Given the description of an element on the screen output the (x, y) to click on. 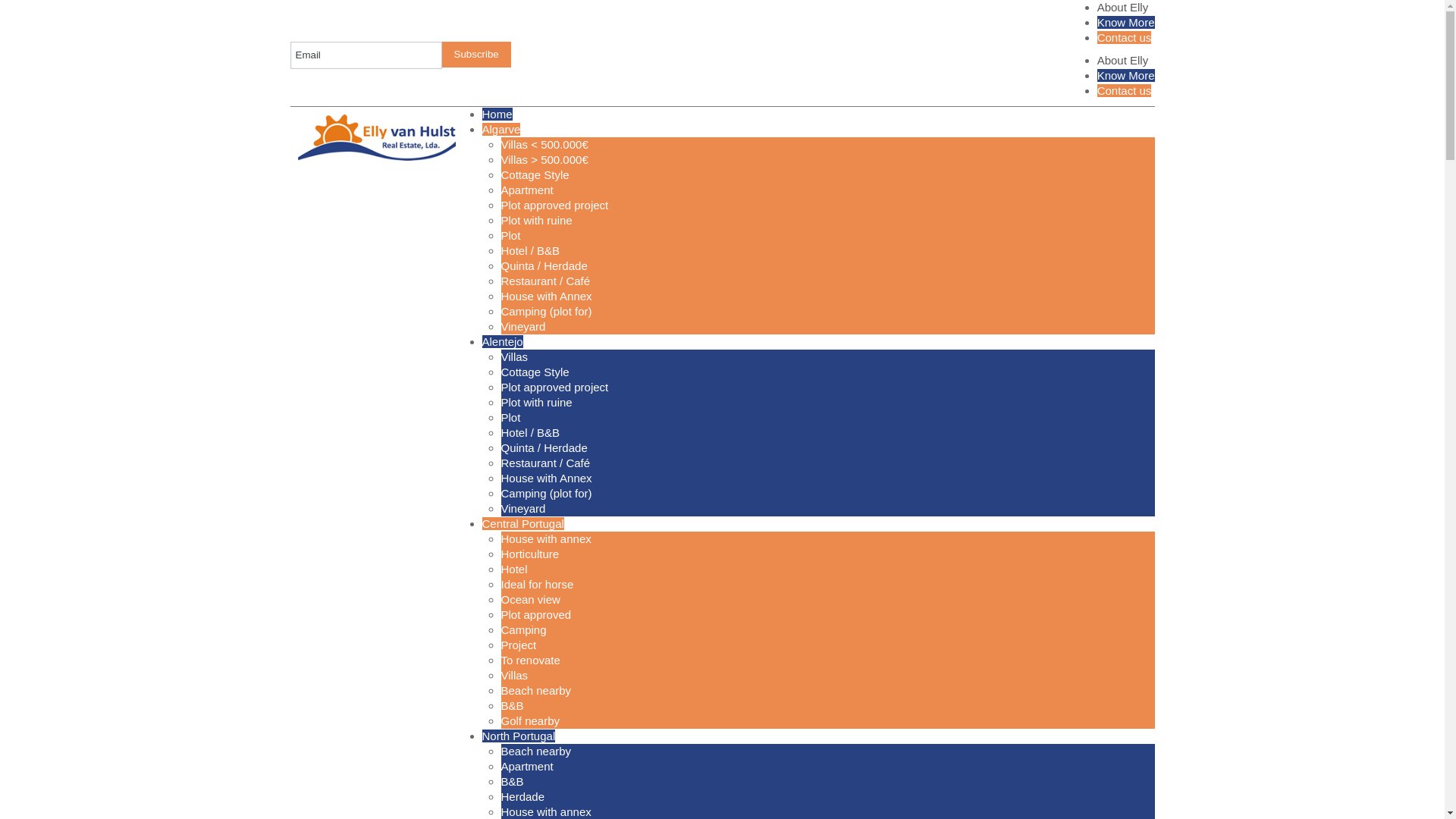
Alentejo (501, 341)
Central Portugal (522, 522)
About Elly (1122, 60)
Plot with ruine (536, 219)
Algarve (501, 128)
Subscribe (476, 53)
Know More (1125, 21)
Vineyard (522, 326)
Subscribe (476, 53)
Horticulture (529, 553)
Cottage Style (534, 371)
Plot approved project (554, 386)
Vineyard (522, 508)
About Elly (1122, 6)
Plot with ruine (536, 401)
